Given the description of an element on the screen output the (x, y) to click on. 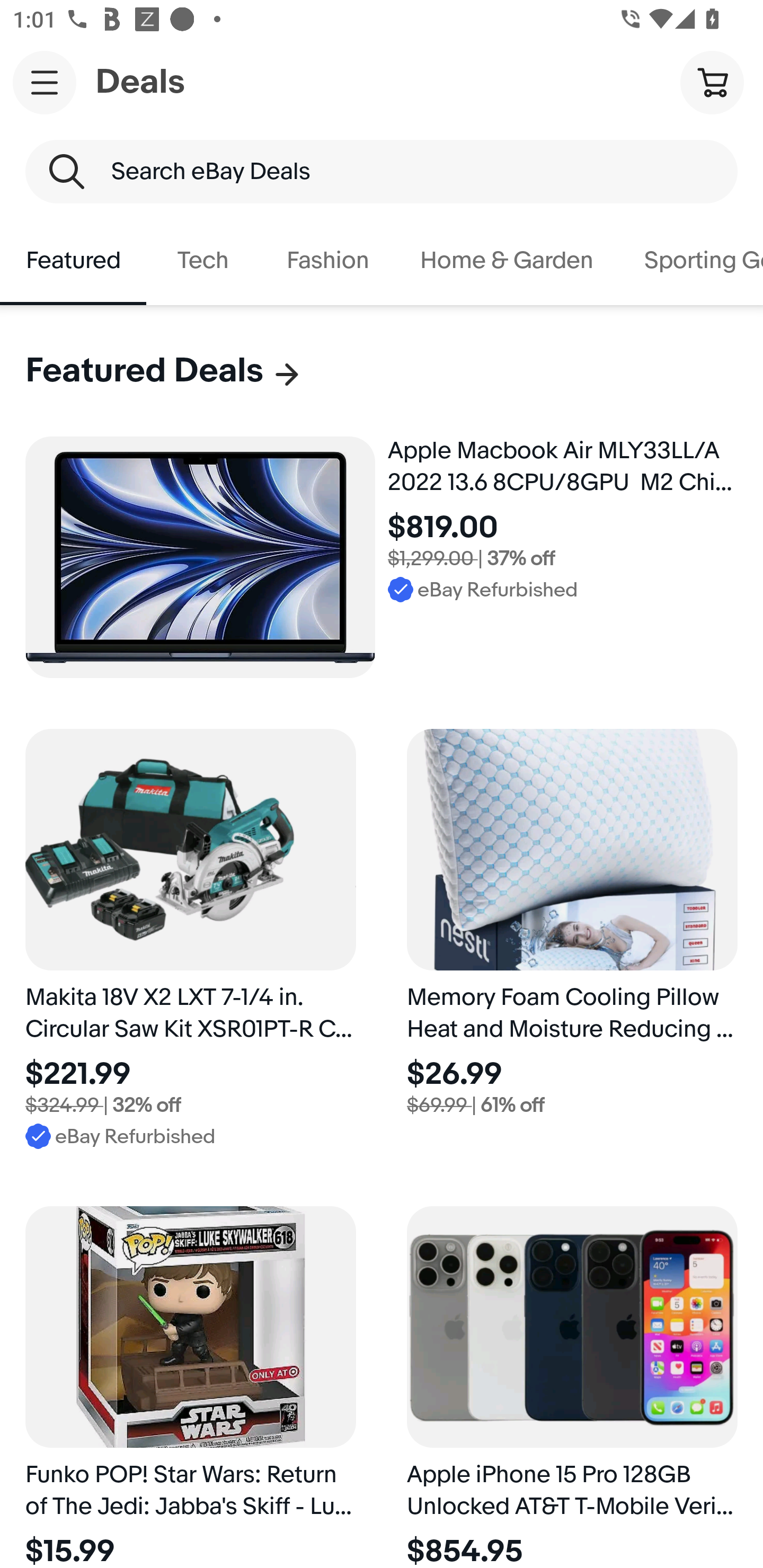
Main navigation, open (44, 82)
Cart button shopping cart (711, 81)
Search eBay Deals Search Keyword Search eBay Deals (381, 171)
Tech. Button. 2 of 7. Tech (203, 260)
Fashion. Button. 3 of 7. Fashion (327, 260)
Home & Garden. Button. 4 of 7. Home & Garden (506, 260)
Sporting Goods. Button. 5 of 7. Sporting Goods (690, 260)
Featured Deals   Featured Deals,7 items (163, 370)
